Given the description of an element on the screen output the (x, y) to click on. 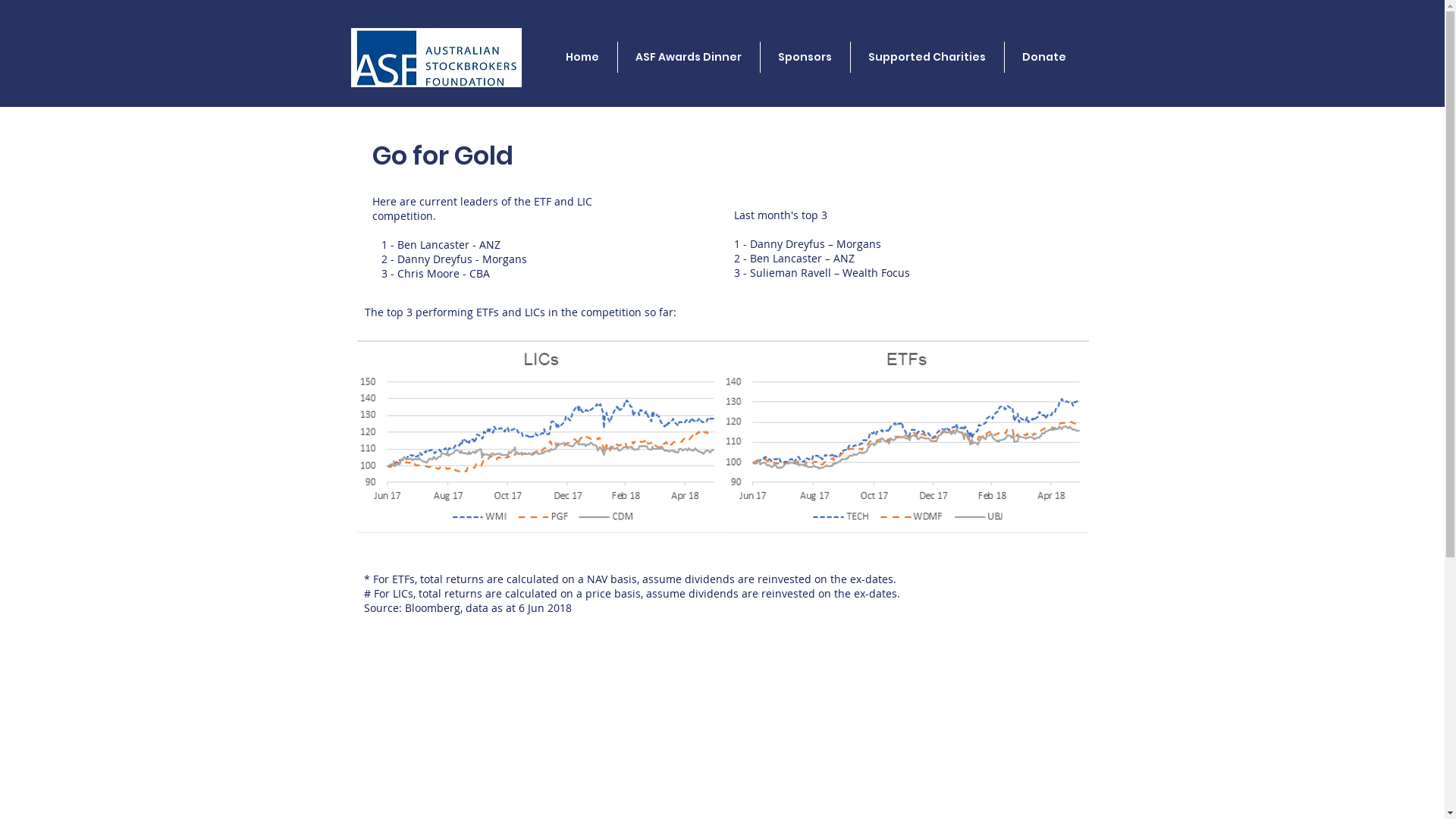
Donate Element type: text (1043, 56)
Supported Charities Element type: text (926, 56)
ASF Awards Dinner Element type: text (688, 56)
Home Element type: text (581, 56)
Sponsors Element type: text (804, 56)
